Given the description of an element on the screen output the (x, y) to click on. 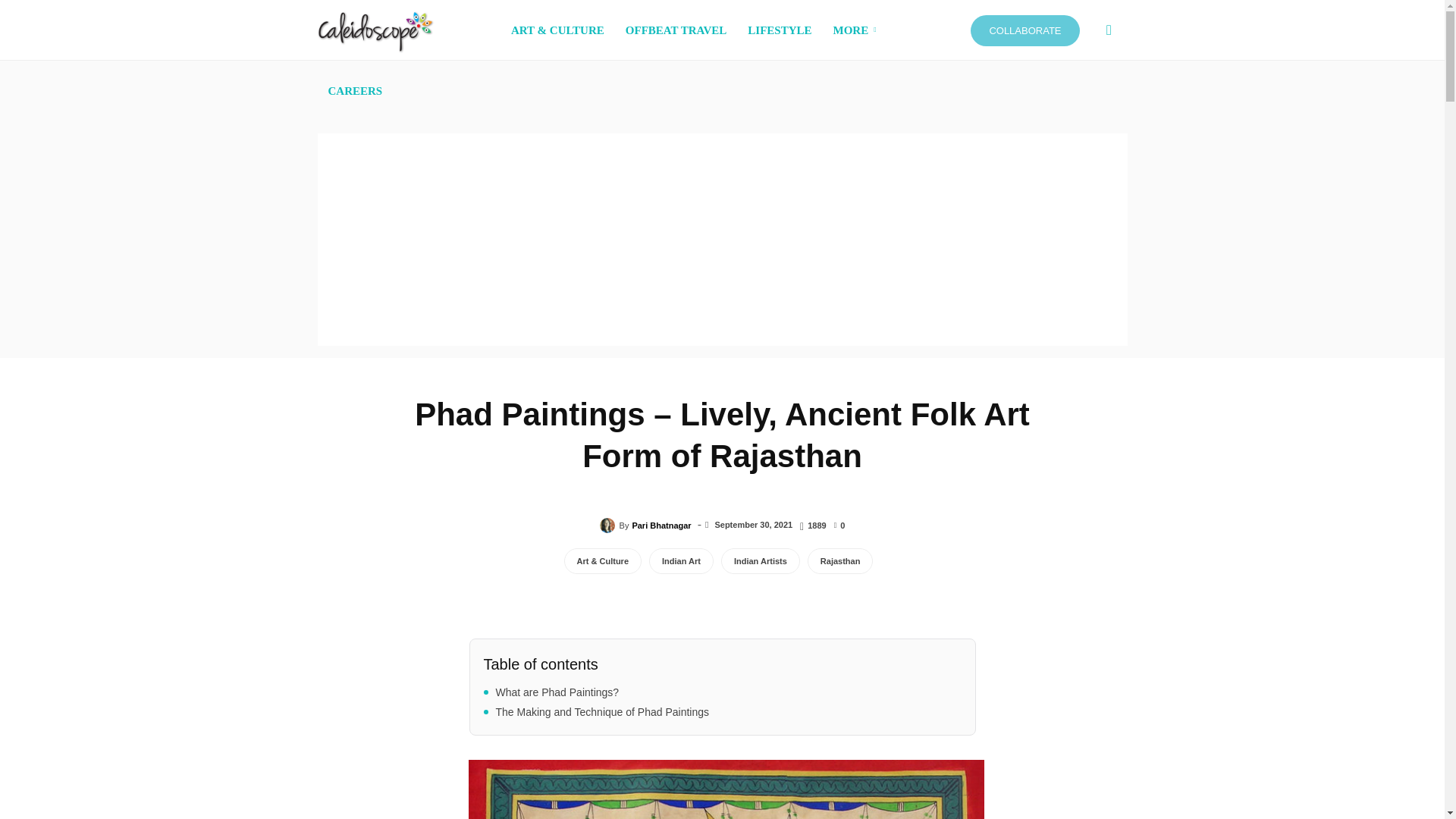
CAREERS (355, 90)
Pari Bhatnagar (660, 525)
Indian Art (681, 560)
COLLABORATE (1024, 30)
LIFESTYLE (779, 30)
Search (1085, 102)
Pari Bhatnagar (609, 525)
COLLABORATE (1024, 30)
0 (839, 524)
MORE (857, 30)
Indian Artists (759, 560)
OFFBEAT TRAVEL (676, 30)
